Given the description of an element on the screen output the (x, y) to click on. 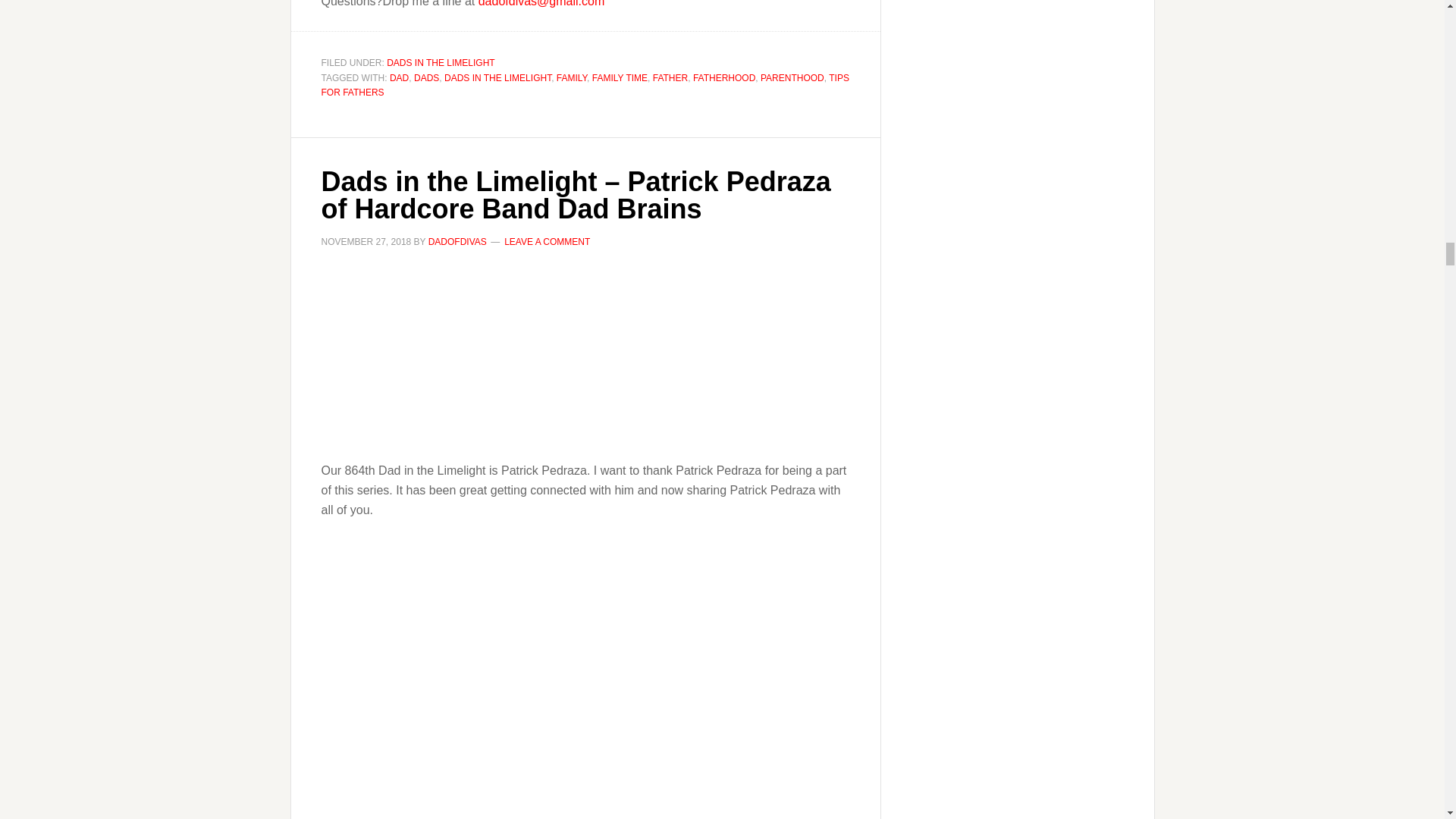
Dads in the Limelight Series (585, 356)
